Given the description of an element on the screen output the (x, y) to click on. 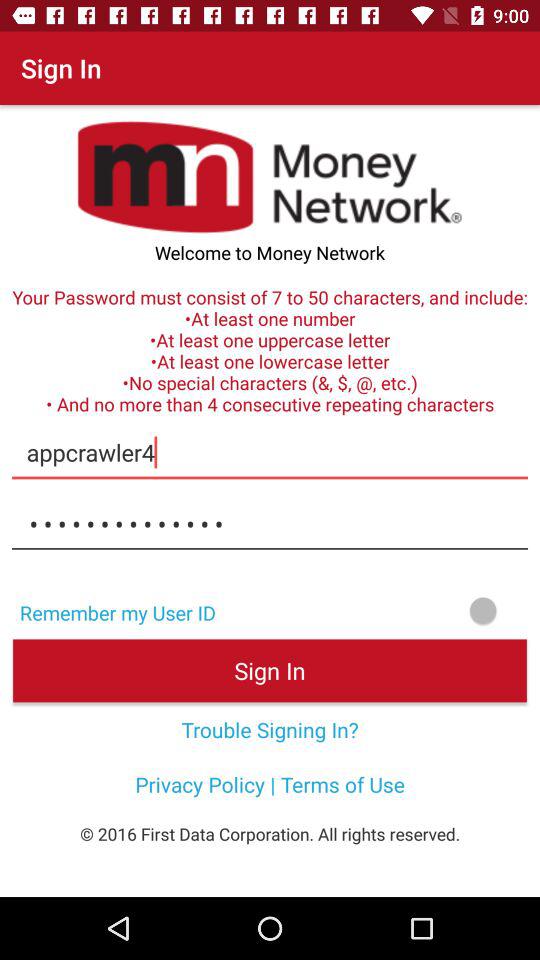
open the icon above the privacy policy terms icon (270, 729)
